Given the description of an element on the screen output the (x, y) to click on. 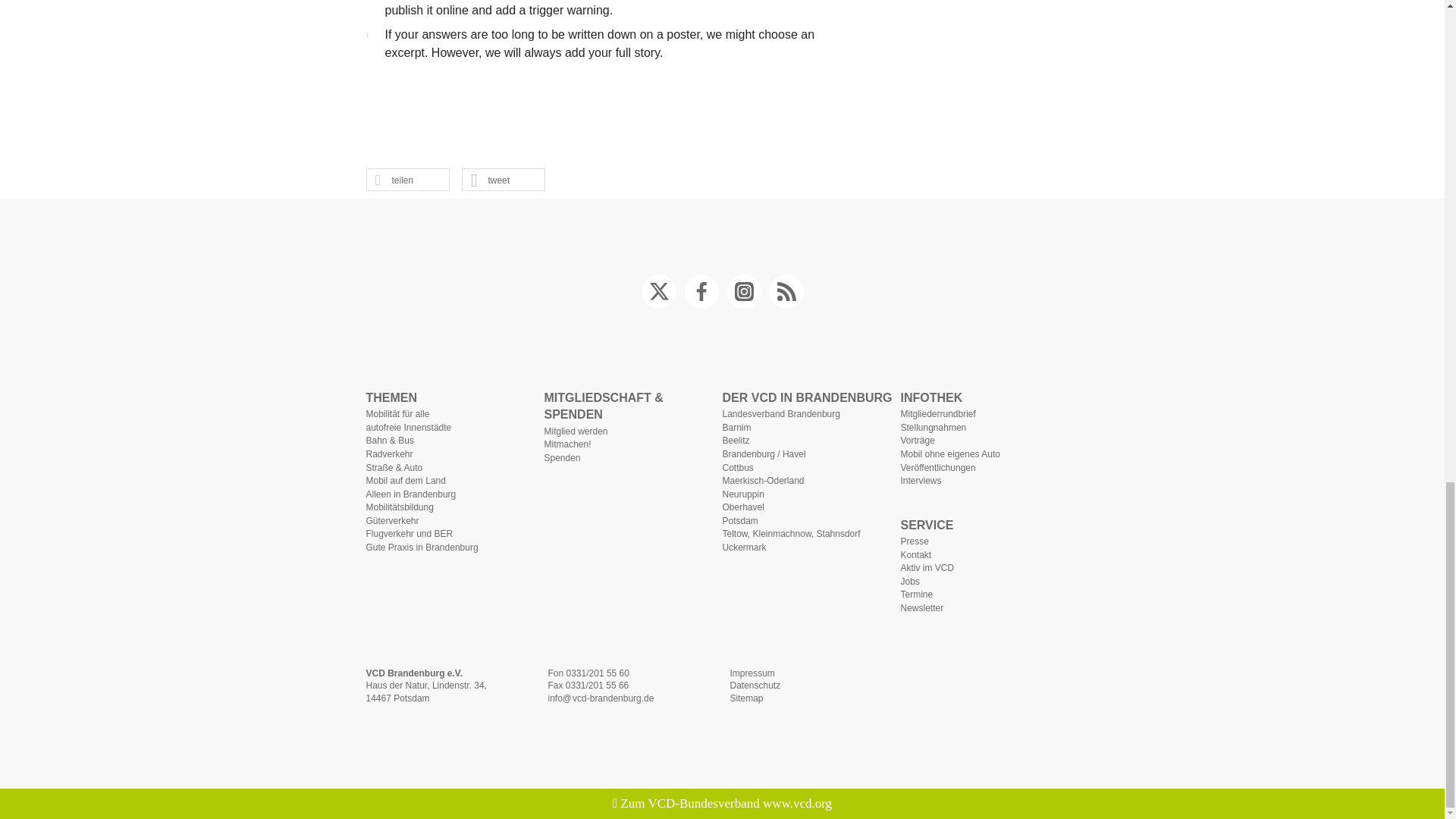
Opens window for sending email (600, 697)
Bei Facebook teilen (394, 179)
VCD  RSS (785, 290)
Opens internal link in current window (754, 685)
Opens internal link in current window (751, 673)
Bei Twitter teilen (489, 179)
Opens internal link in current window (745, 697)
